Given the description of an element on the screen output the (x, y) to click on. 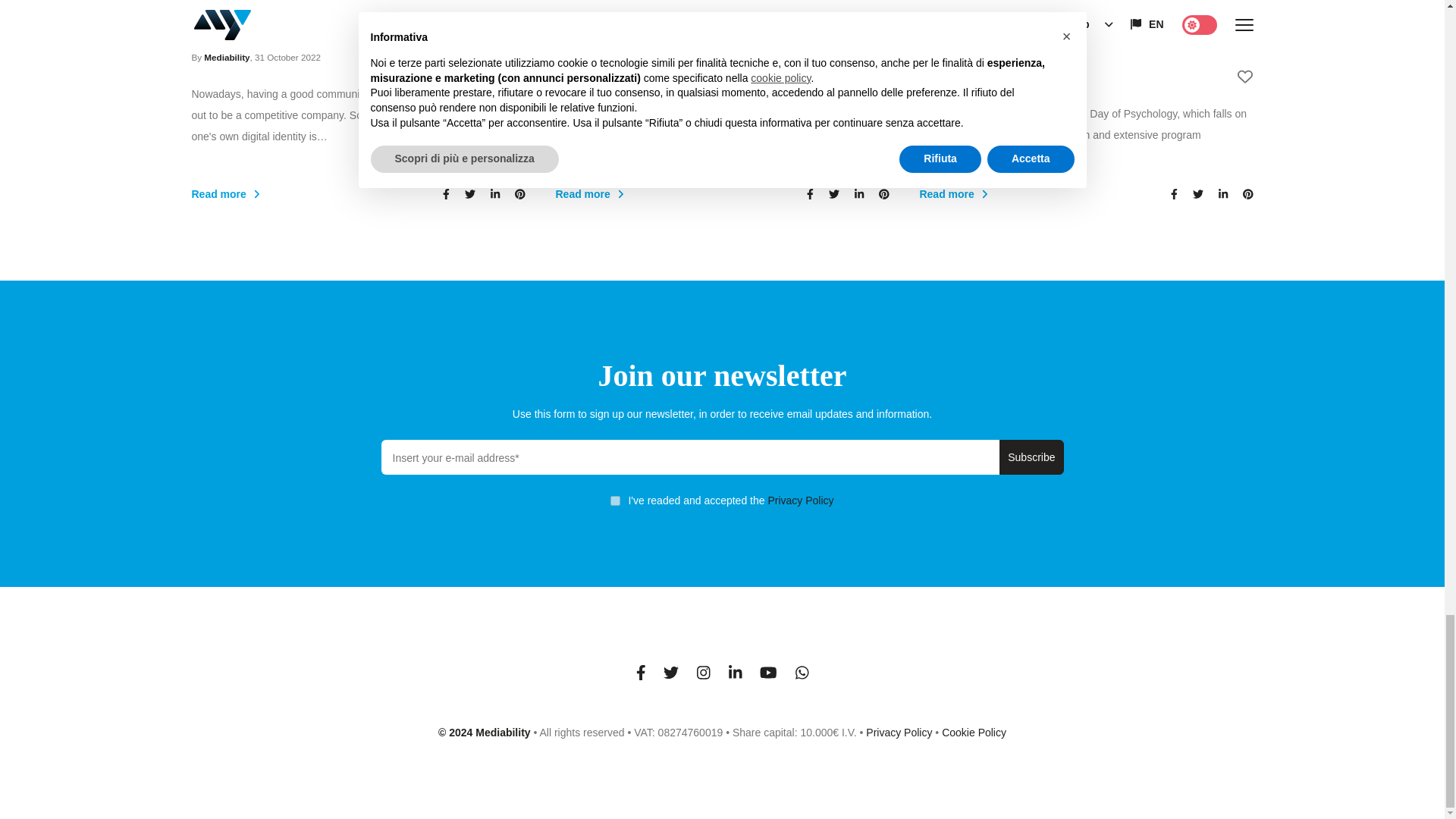
Garage Italia Customs and Italian Independent (721, 21)
Mediability (225, 57)
Read more (308, 194)
Digital marketing strategies to grow a business (357, 21)
Mediability (953, 76)
Subscribe (1030, 457)
on (615, 501)
Mediability (589, 57)
Read more (672, 194)
